Given the description of an element on the screen output the (x, y) to click on. 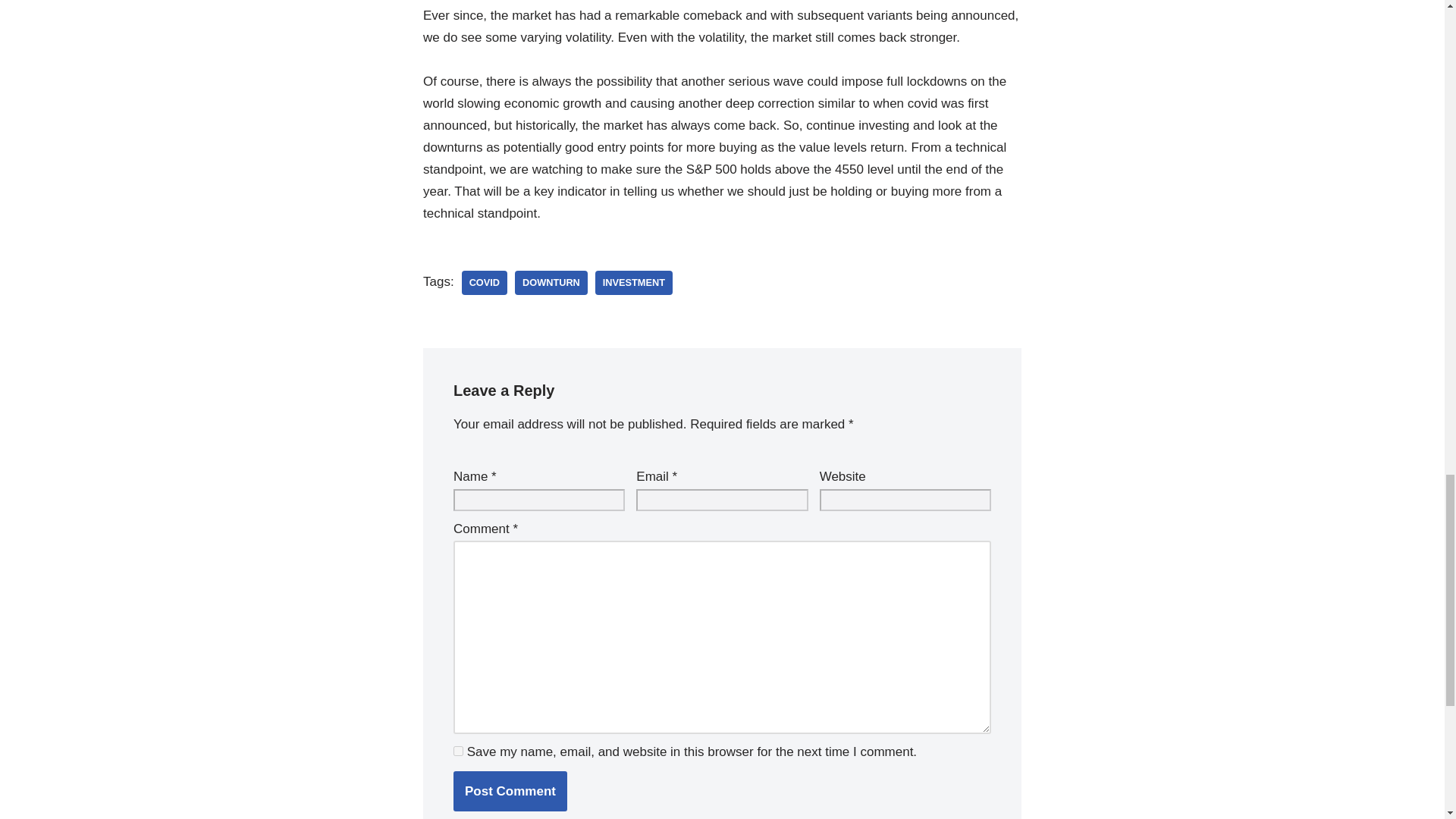
Post Comment (509, 791)
downturn (551, 283)
DOWNTURN (551, 283)
investment (633, 283)
yes (457, 750)
covid (483, 283)
INVESTMENT (633, 283)
COVID (483, 283)
Post Comment (509, 791)
